Given the description of an element on the screen output the (x, y) to click on. 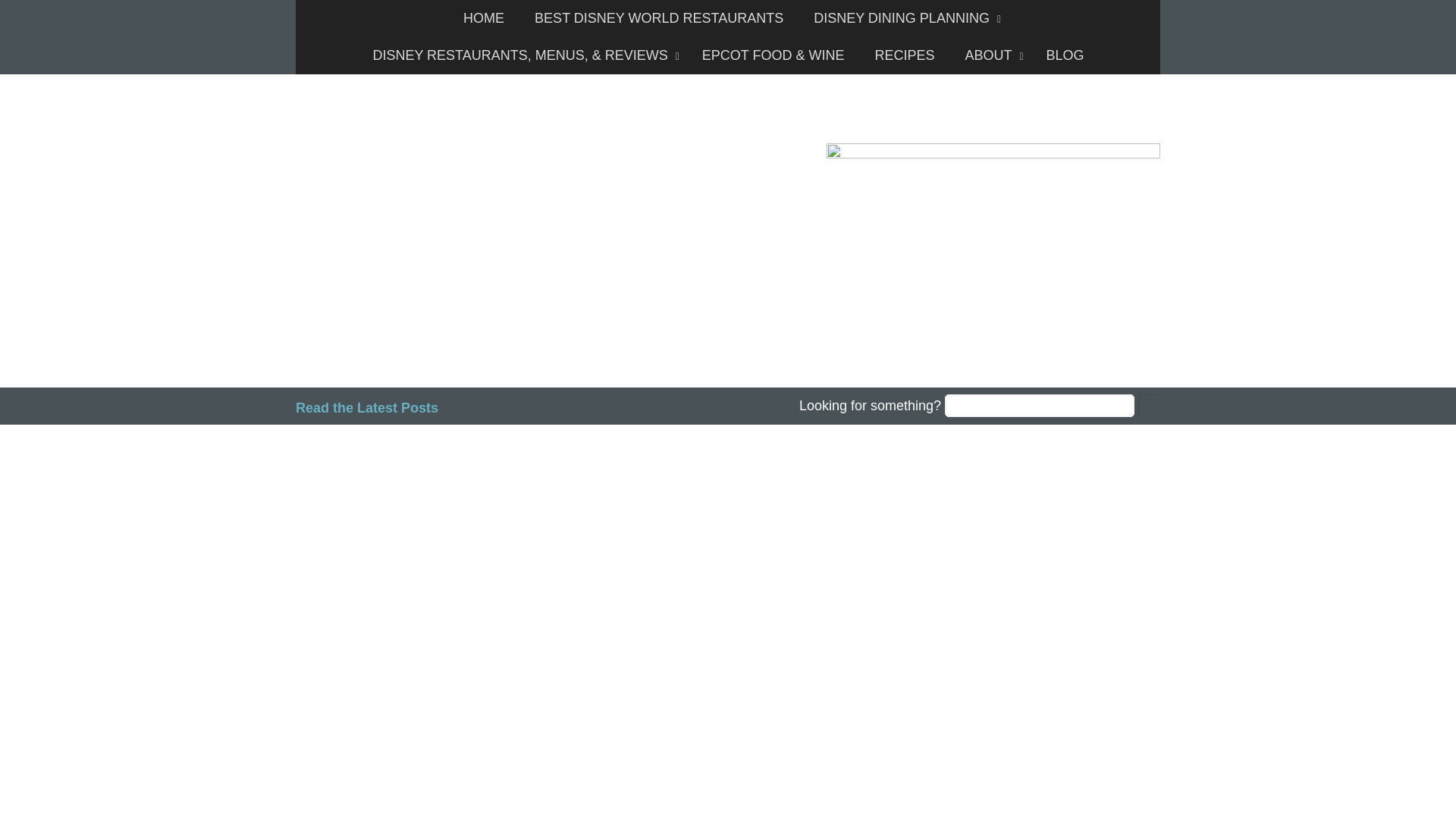
HOME (483, 18)
BEST DISNEY WORLD RESTAURANTS (658, 18)
DISNEY DINING PLANNING (903, 18)
